Given the description of an element on the screen output the (x, y) to click on. 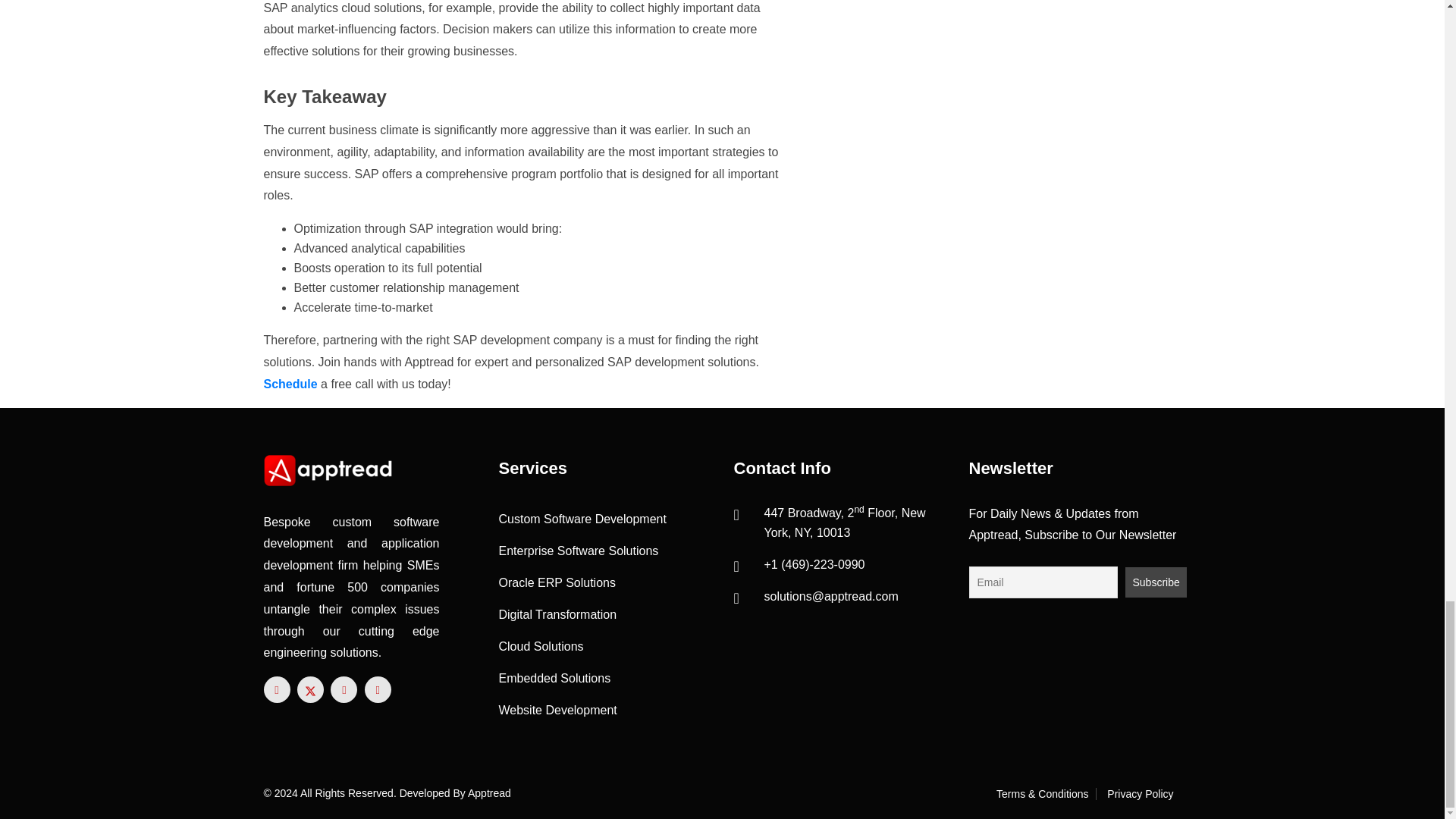
Subscribe (1155, 582)
